Given the description of an element on the screen output the (x, y) to click on. 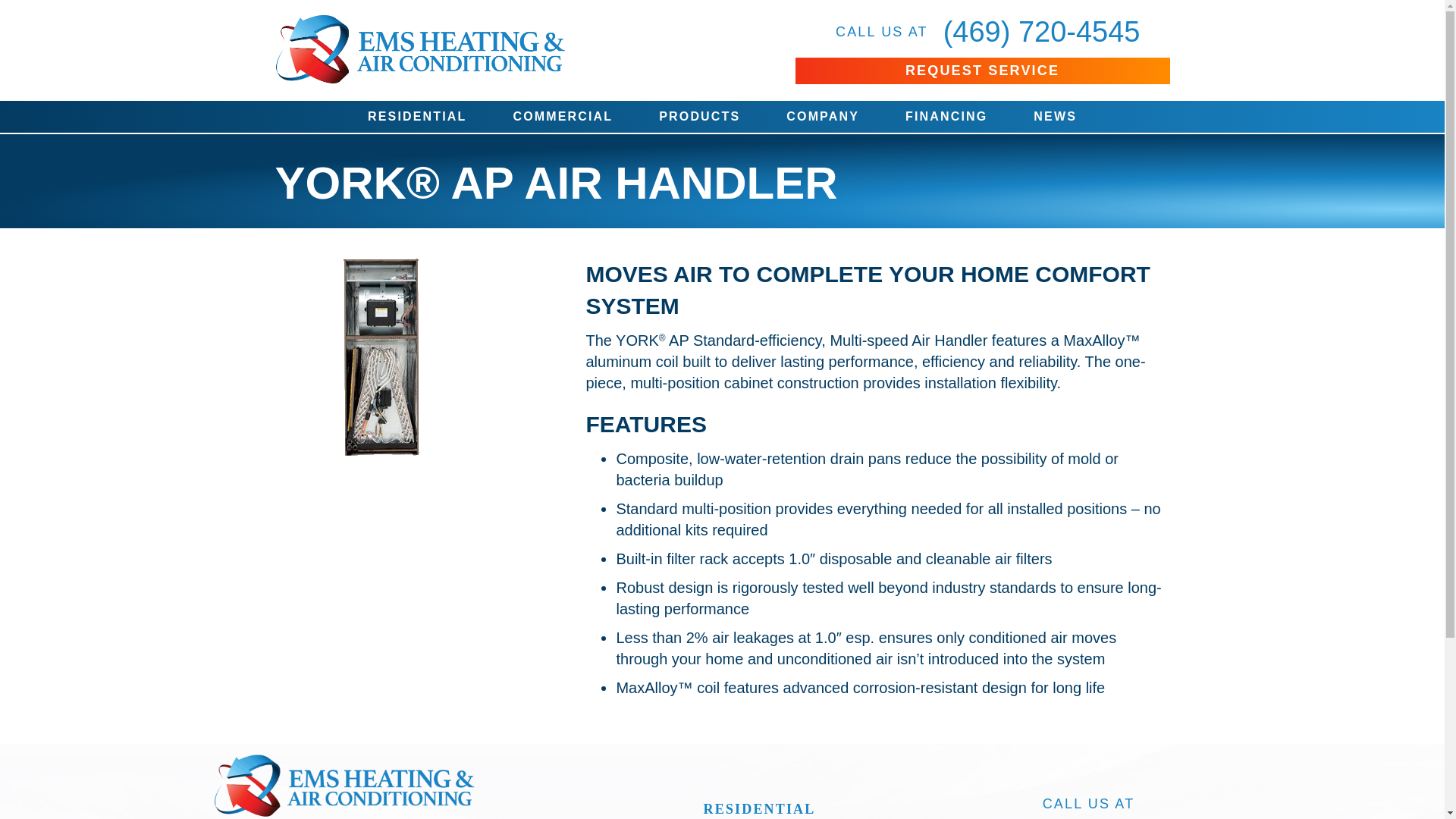
FINANCING (946, 116)
PRODUCTS (699, 116)
CALL US AT (874, 32)
RESIDENTIAL (417, 116)
COMPANY (822, 116)
COMMERCIAL (561, 116)
EMS Logo-RGB (418, 50)
EMS Logo-RGB (342, 781)
REQUEST SERVICE (981, 71)
NEWS (1054, 116)
